Given the description of an element on the screen output the (x, y) to click on. 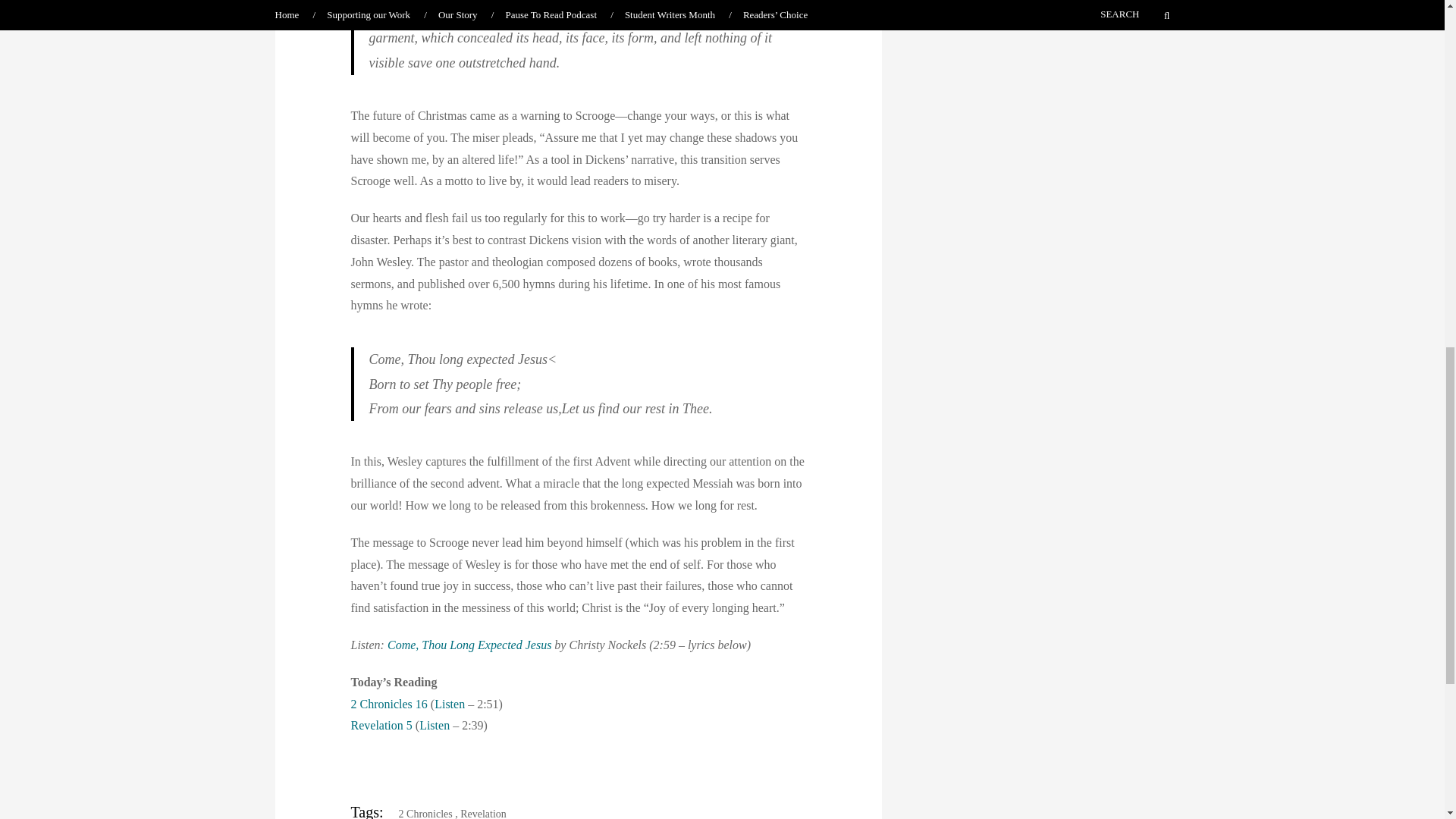
2 Chronicles 16 (388, 703)
Revelation 5 (381, 725)
Listen (448, 703)
2 Chronicles (419, 813)
Listen (434, 725)
Revelation (483, 813)
Come, Thou Long Expected Jesus (469, 644)
